Given the description of an element on the screen output the (x, y) to click on. 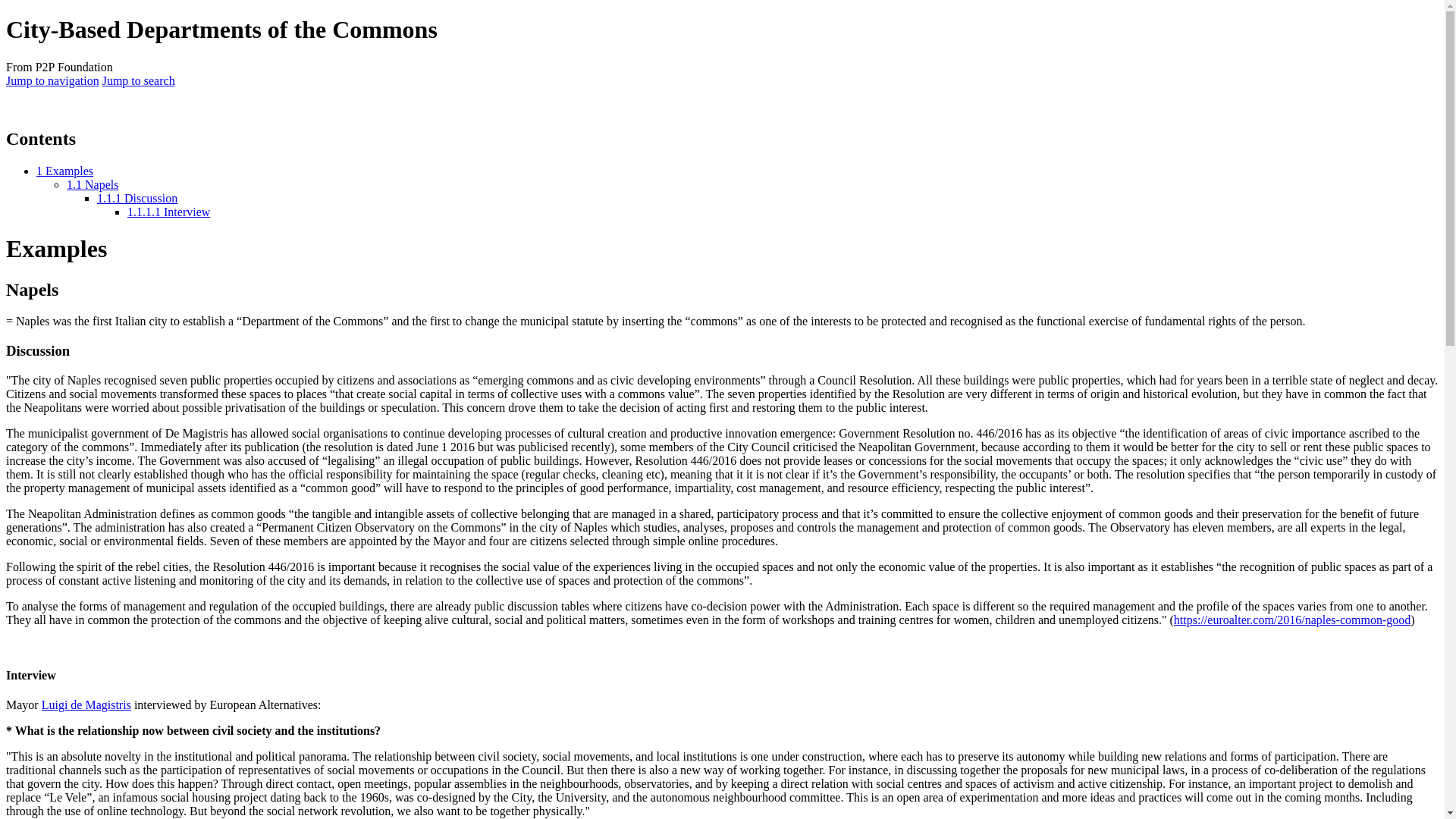
1.1.1 Discussion (137, 197)
Jump to navigation (52, 80)
1.1 Napels (91, 184)
Luigi de Magistris (86, 704)
1 Examples (64, 170)
Luigi de Magistris (86, 704)
Jump to search (137, 80)
1.1.1.1 Interview (168, 211)
